Given the description of an element on the screen output the (x, y) to click on. 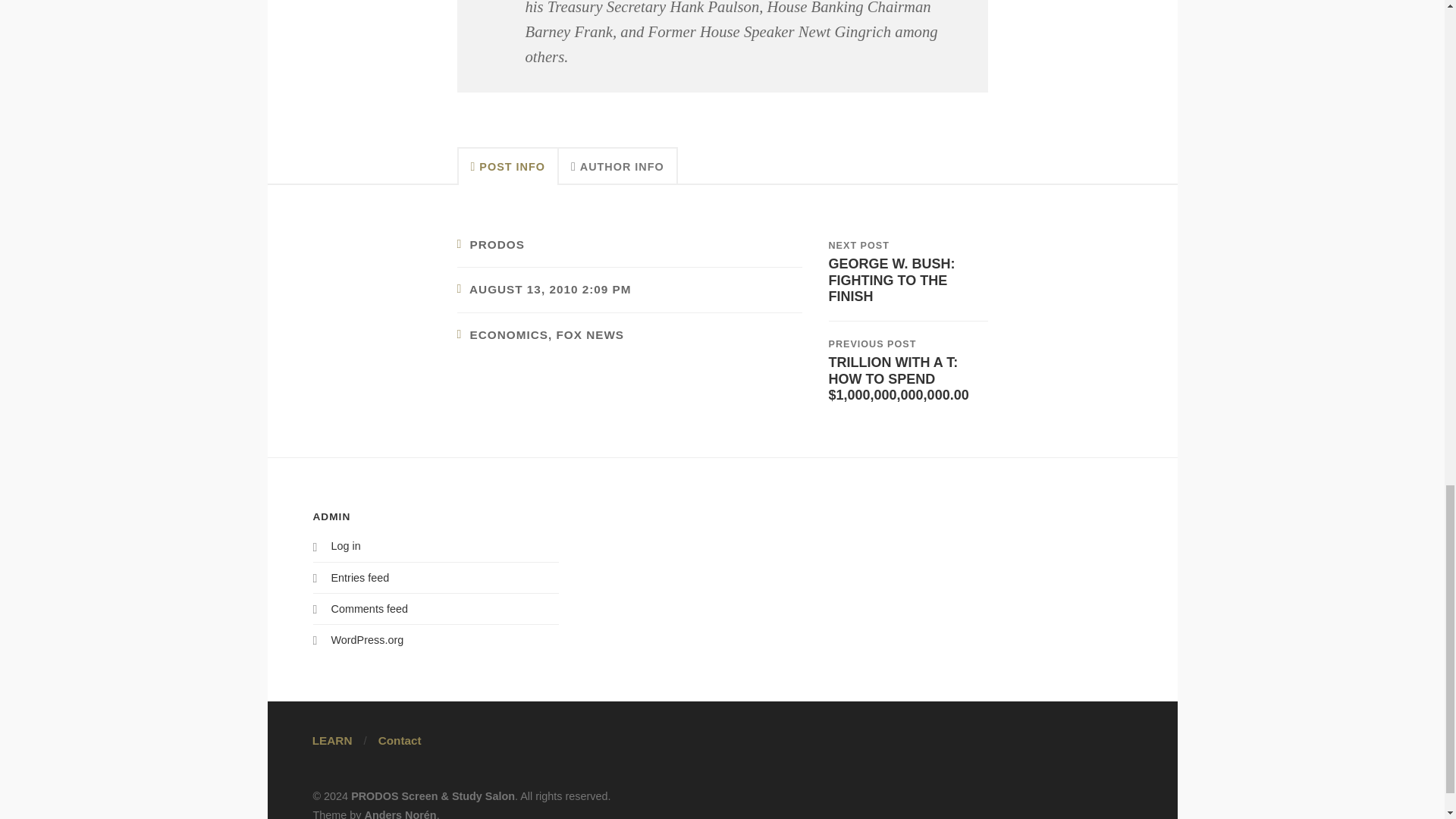
LEARN (332, 739)
Comments feed (368, 608)
AUTHOR INFO (618, 166)
FOX NEWS (590, 334)
Posts by prodos (497, 244)
Contact (400, 739)
AUGUST 13, 2010 2:09 PM (549, 288)
POST INFO (507, 166)
Entries feed (359, 577)
Log in (344, 545)
ECONOMICS (509, 334)
PRODOS (497, 244)
WordPress.org (907, 271)
